Given the description of an element on the screen output the (x, y) to click on. 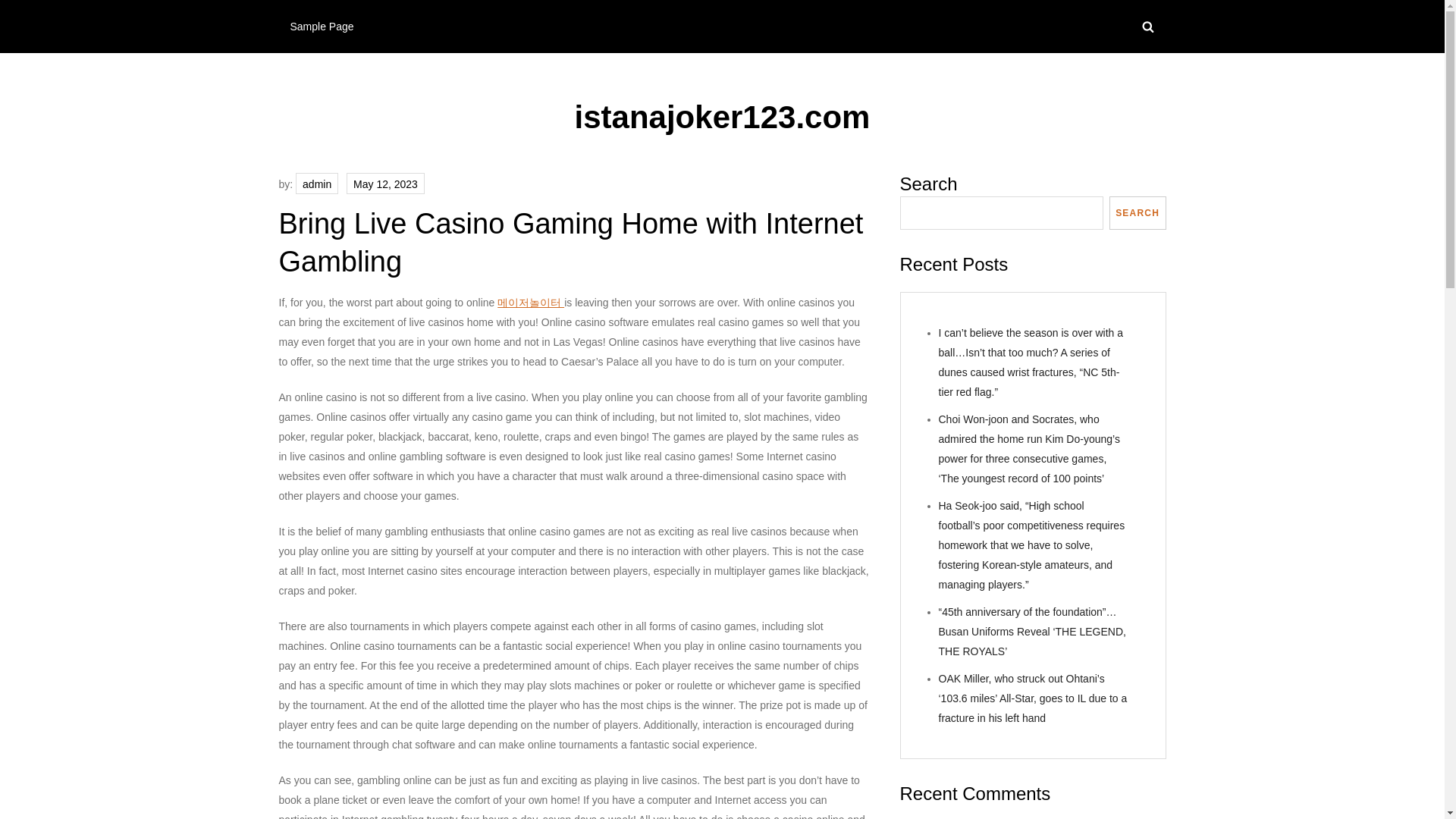
SEARCH (1137, 213)
admin (316, 183)
May 12, 2023 (385, 183)
Sample Page (322, 26)
istanajoker123.com (722, 117)
